Given the description of an element on the screen output the (x, y) to click on. 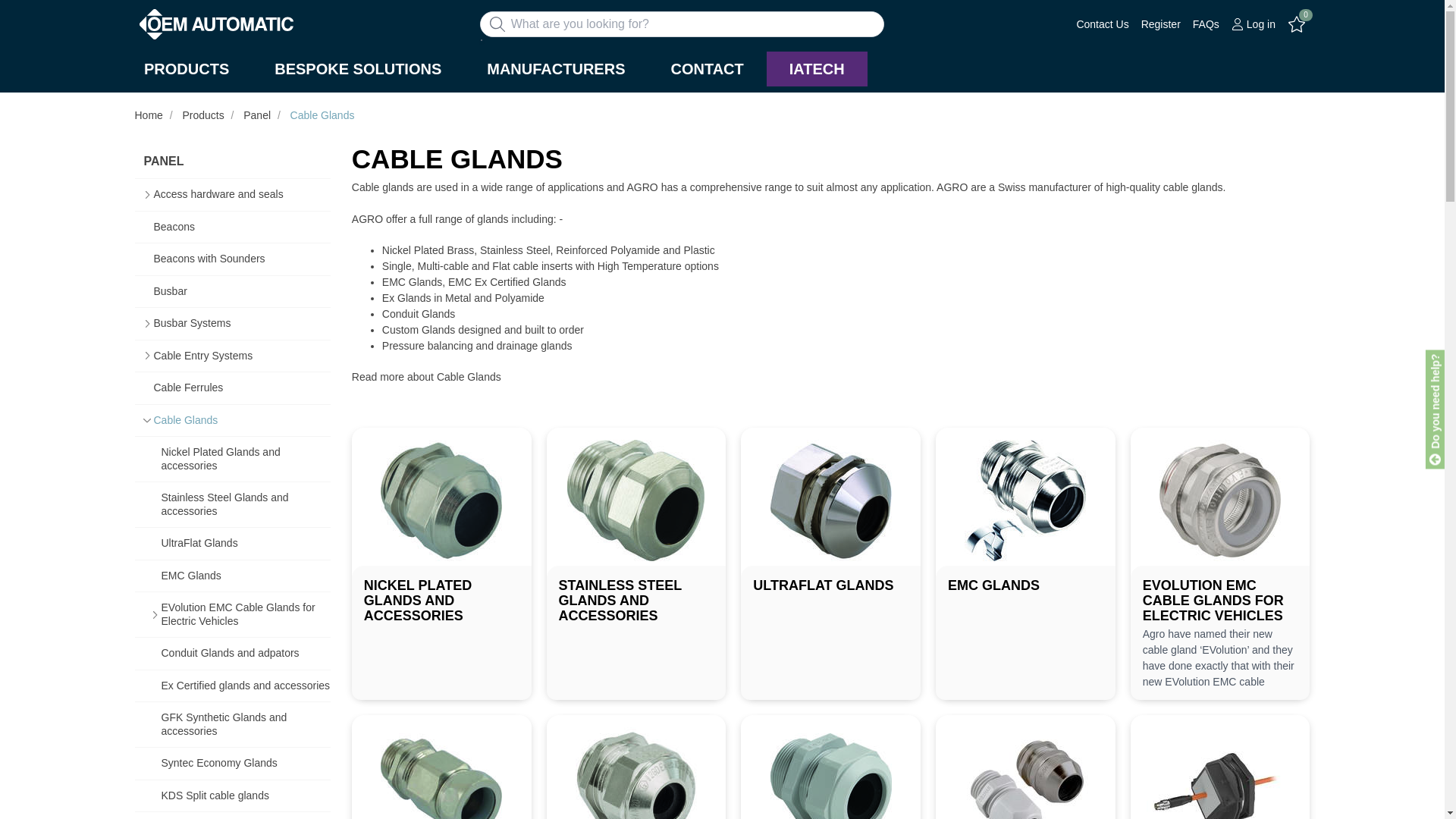
Home (139, 102)
Log in (1253, 24)
PRODUCTS (185, 68)
Register (1160, 23)
FAQs (1206, 23)
0 (1296, 24)
Contact Us (1101, 23)
